Given the description of an element on the screen output the (x, y) to click on. 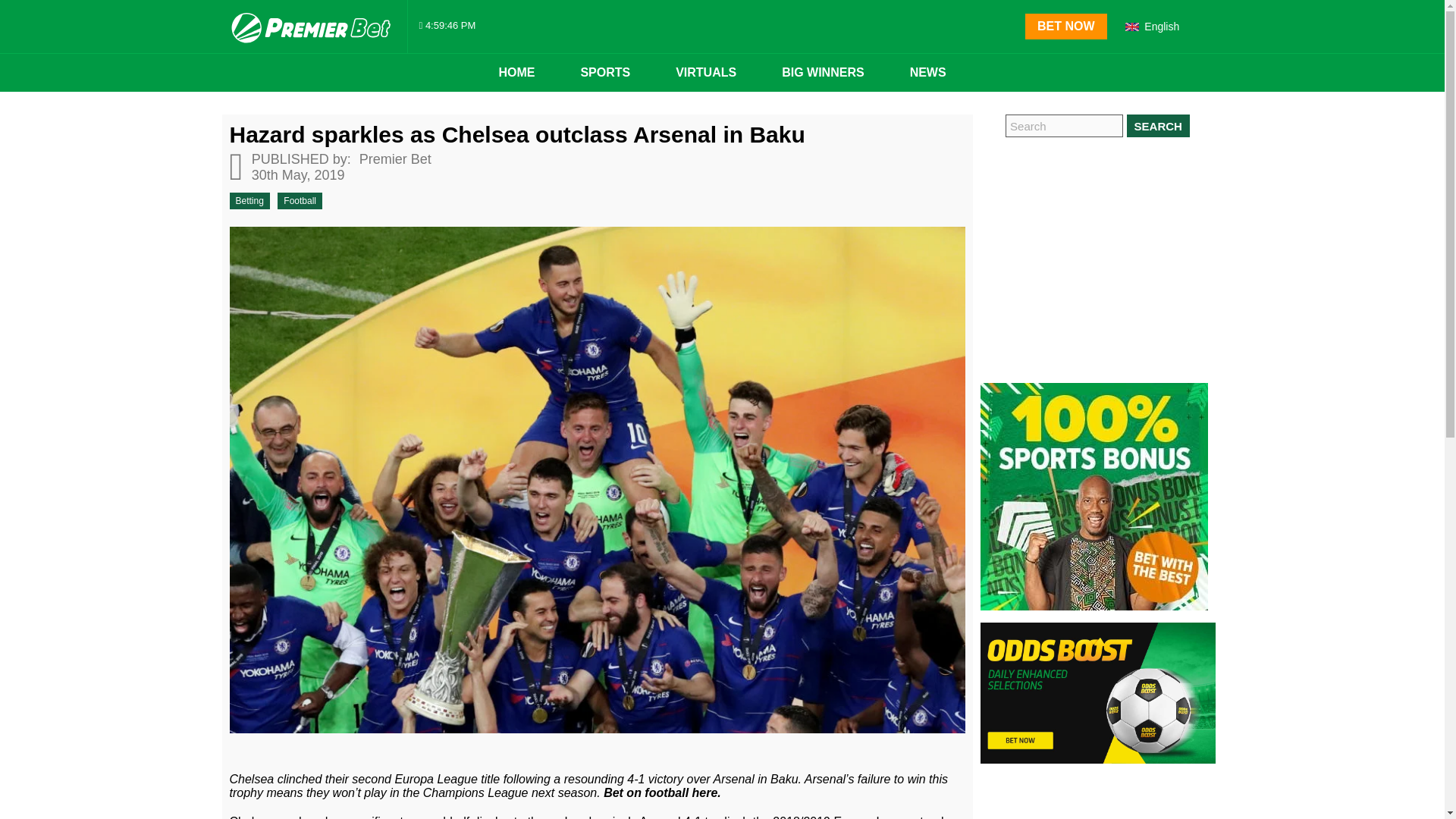
BIG WINNERS (822, 72)
SEARCH (1157, 125)
HOME (516, 72)
NEWS (927, 72)
Bet on football here. (662, 792)
BET NOW (1065, 26)
Football (299, 200)
VIRTUALS (705, 72)
SPORTS (604, 72)
Premier Bet (392, 159)
Betting (248, 200)
